Given the description of an element on the screen output the (x, y) to click on. 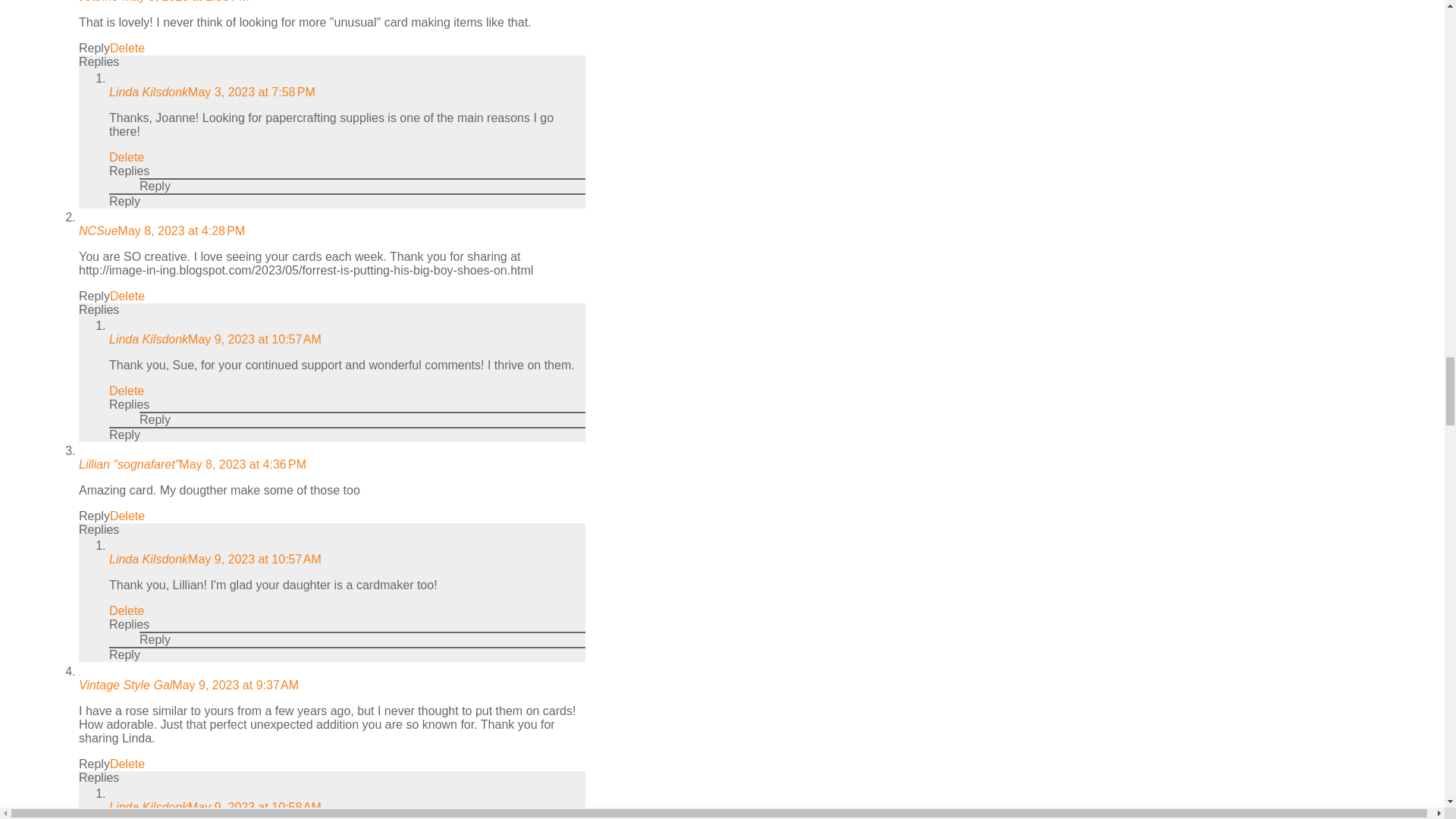
Reply (124, 201)
Replies (98, 61)
NCSue (97, 230)
Replies (98, 309)
Delete (126, 156)
Reply (94, 47)
Linda Kilsdonk (148, 338)
Linda Kilsdonk (148, 91)
Reply (154, 185)
Delete (127, 295)
Replies (129, 170)
Joanne (100, 1)
